Given the description of an element on the screen output the (x, y) to click on. 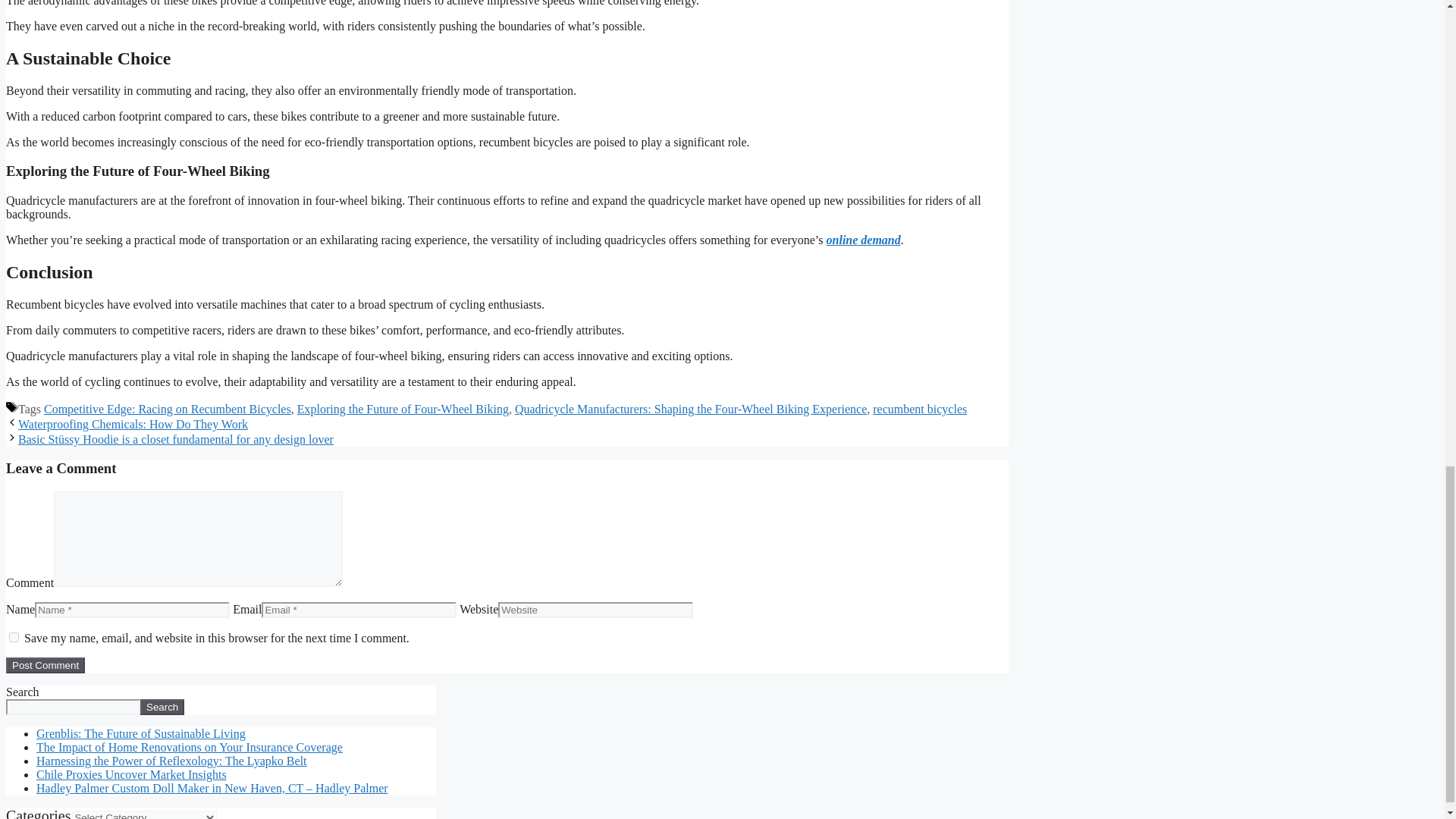
yes (13, 637)
Competitive Edge: Racing on Recumbent Bicycles (167, 408)
Harnessing the Power of Reflexology: The Lyapko Belt (171, 760)
Grenblis: The Future of Sustainable Living (141, 733)
online demand (864, 239)
recumbent bicycles (919, 408)
The Impact of Home Renovations on Your Insurance Coverage (189, 747)
Post Comment (44, 665)
Post Comment (44, 665)
Chile Proxies Uncover Market Insights (131, 774)
Waterproofing Chemicals: How Do They Work (132, 423)
Exploring the Future of Four-Wheel Biking (402, 408)
Search (161, 706)
